Given the description of an element on the screen output the (x, y) to click on. 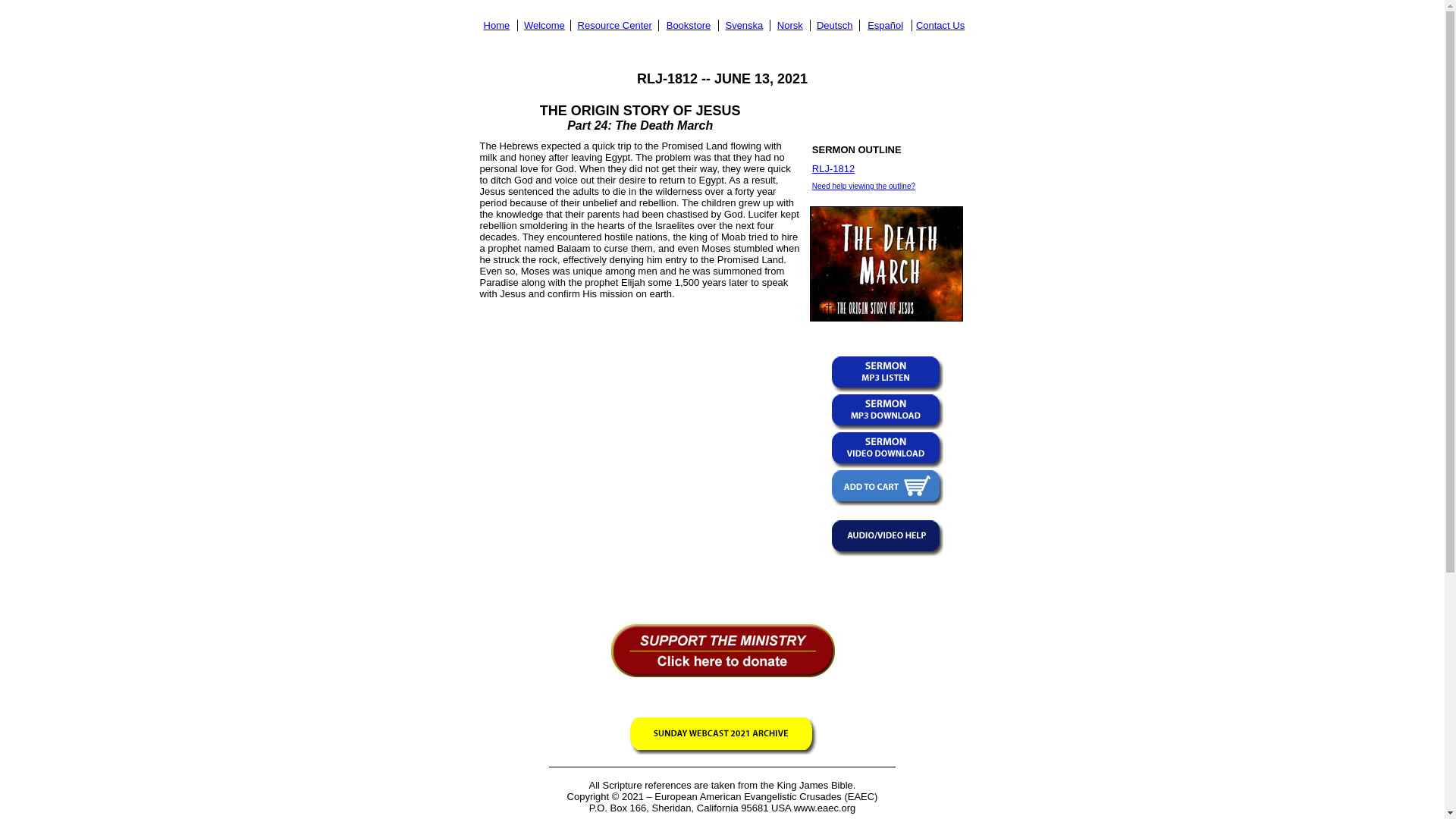
Norsk (790, 25)
Deutsch (834, 25)
Contact Us (939, 25)
Home (497, 25)
Need help viewing the outline? (863, 185)
Bookstore (688, 25)
Welcome (544, 25)
Resource Center (615, 25)
Svenska (743, 25)
RLJ-1812 (833, 168)
